Given the description of an element on the screen output the (x, y) to click on. 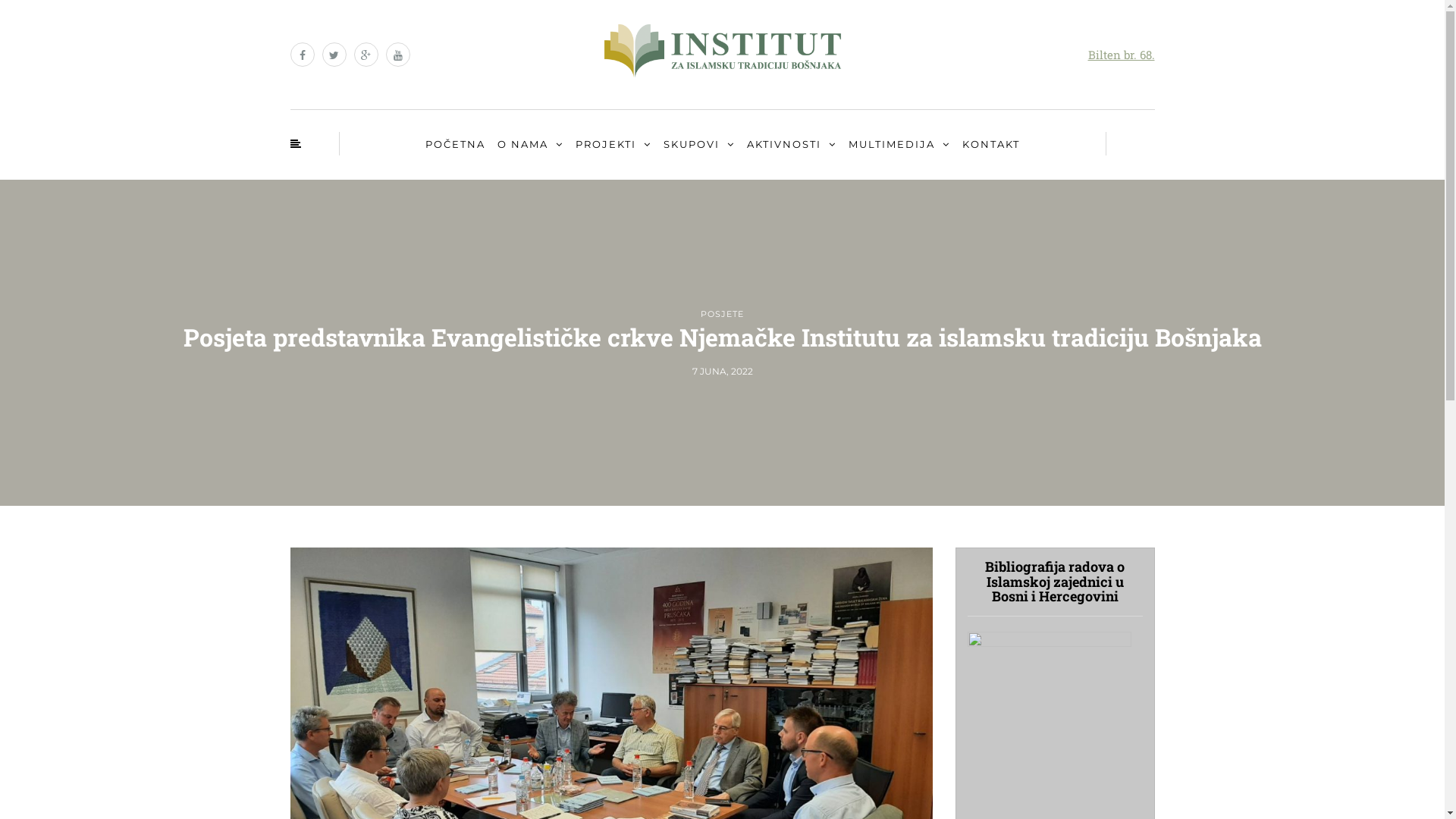
SKUPOVI Element type: text (698, 144)
PROJEKTI Element type: text (613, 144)
Prijava Element type: text (72, 716)
O NAMA Element type: text (529, 144)
MULTIMEDIJA Element type: text (898, 144)
AKTIVNOSTI Element type: text (791, 144)
KONTAKT Element type: text (990, 144)
POSJETE Element type: text (721, 313)
Bilten br. 68. Element type: text (1120, 54)
